Given the description of an element on the screen output the (x, y) to click on. 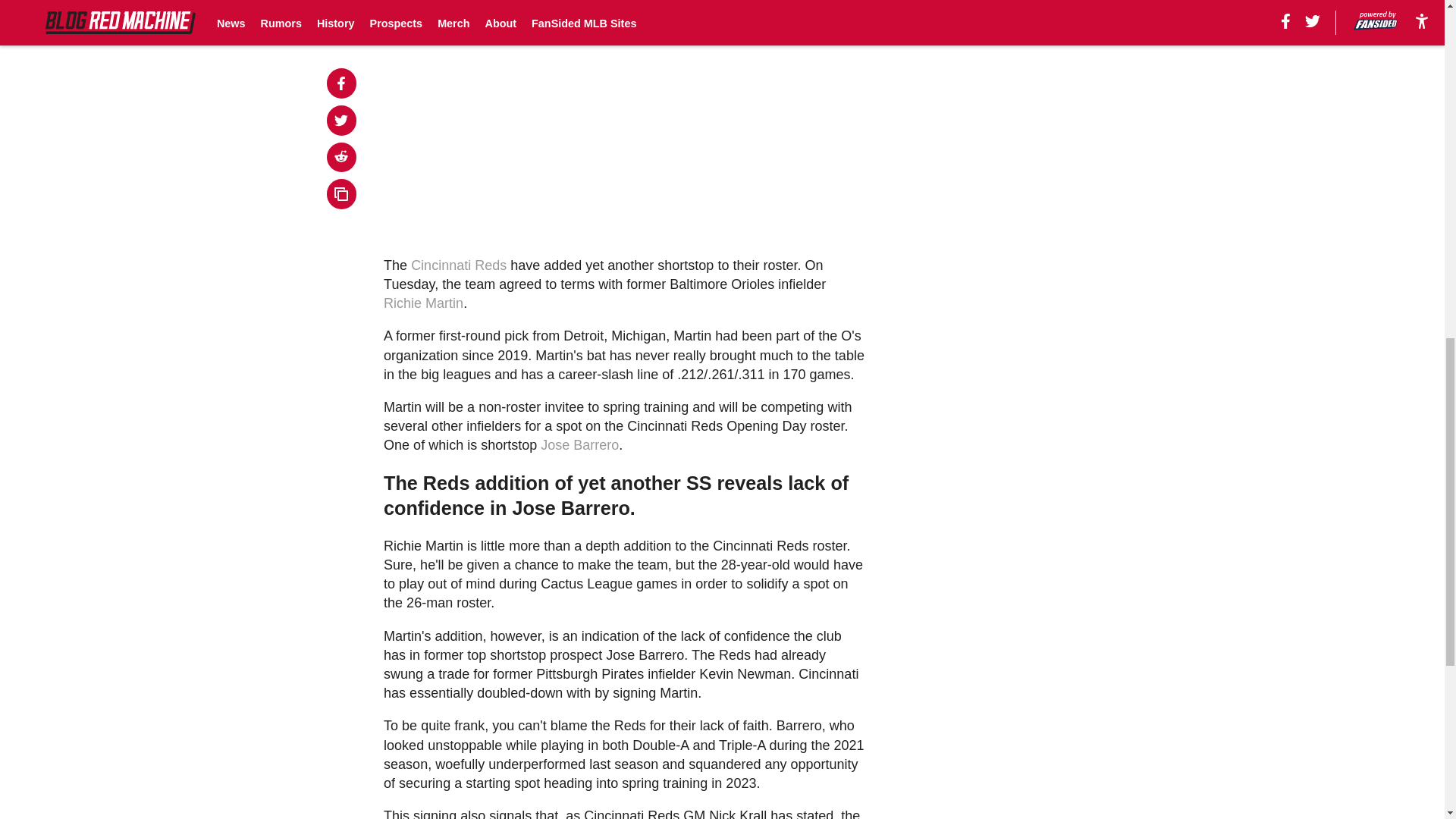
Richie Martin (423, 303)
Cincinnati Reds (458, 264)
Jose Barrero (579, 444)
